Given the description of an element on the screen output the (x, y) to click on. 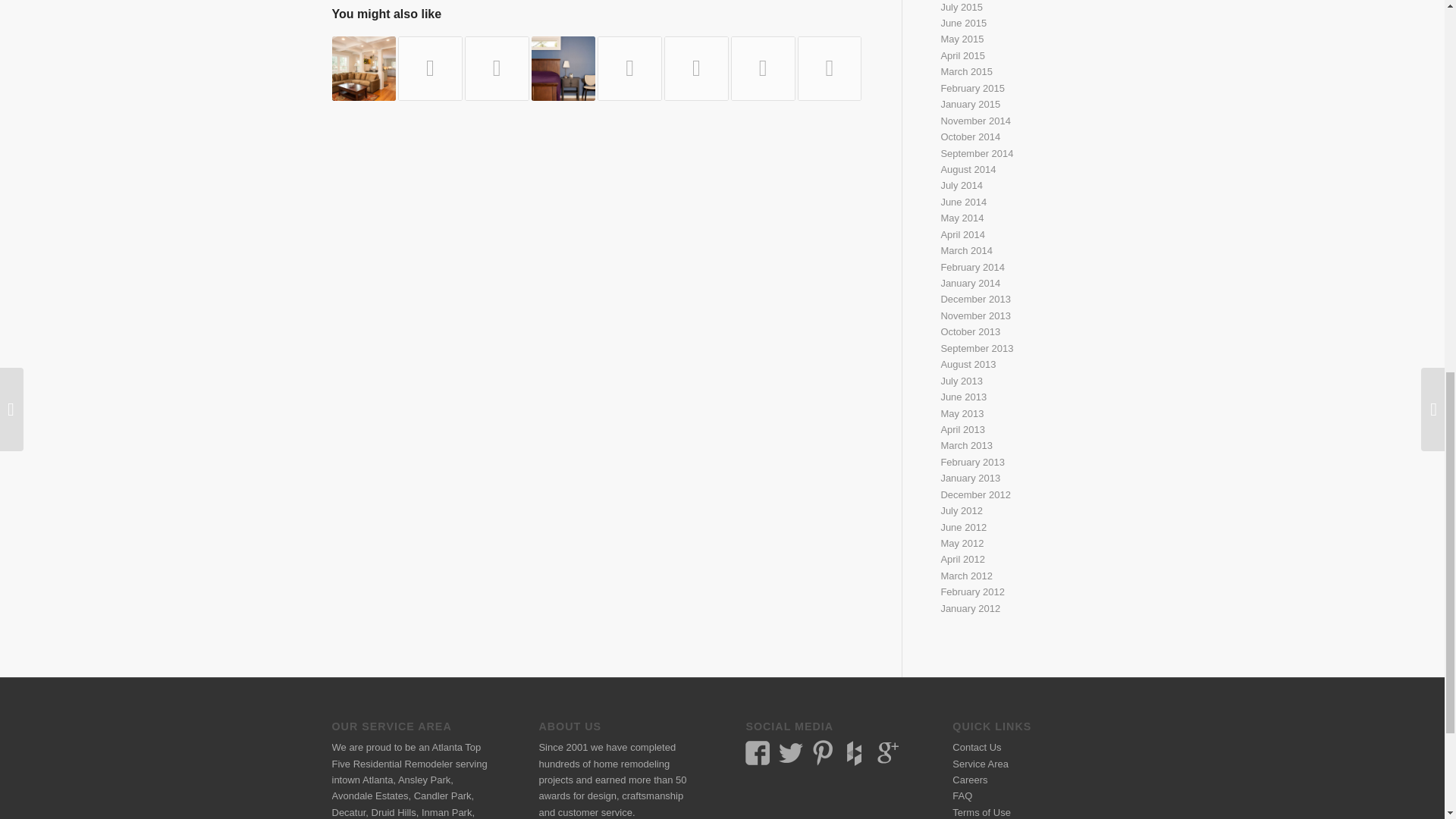
Materials You Can Expect to be Popular in Home Interiors (363, 68)
Turn Your Basement into a Guest Room (563, 68)
Need Instant Curb Appeal? Think Shutters! (430, 68)
